Given the description of an element on the screen output the (x, y) to click on. 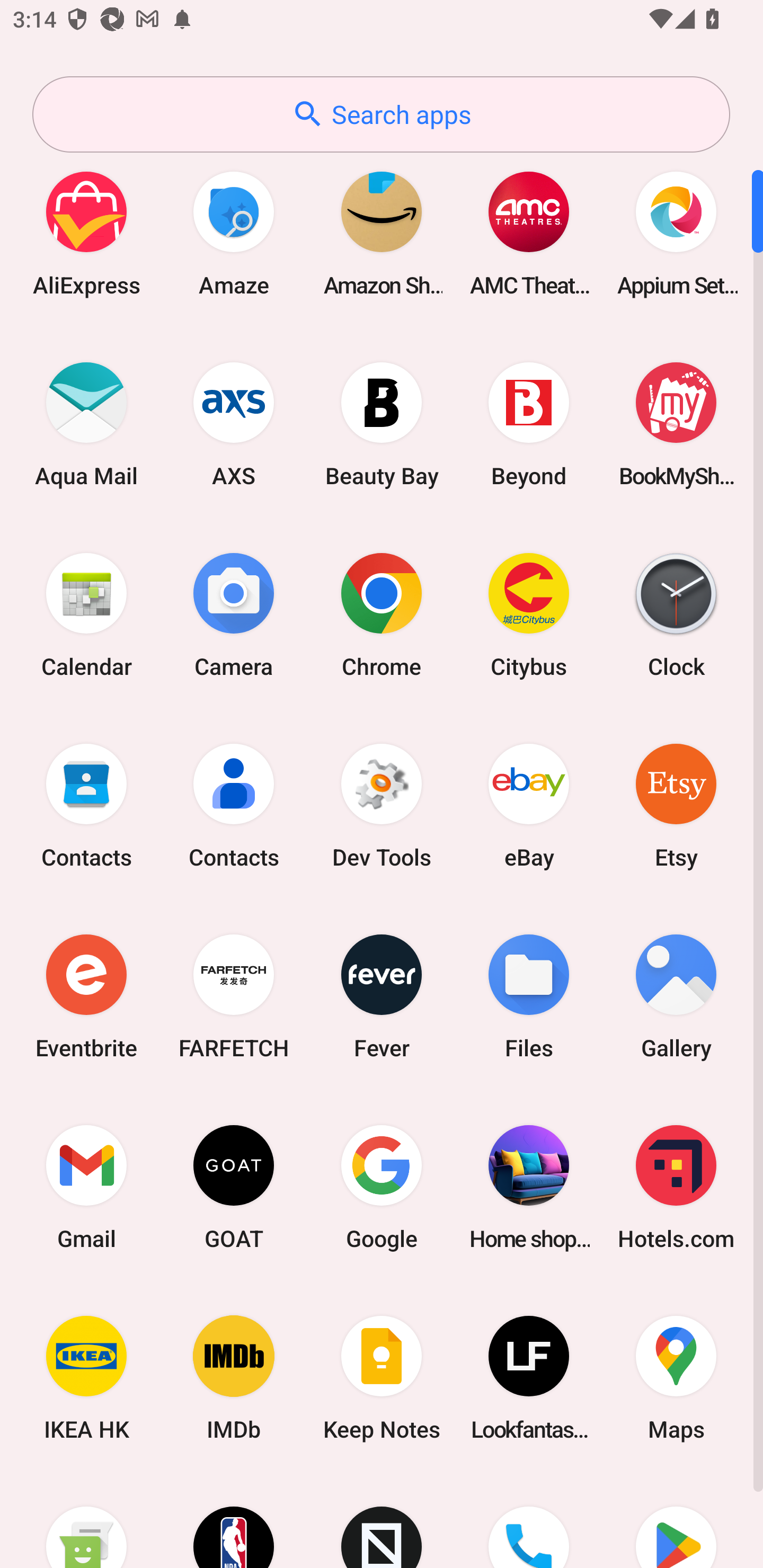
  Search apps (381, 114)
AliExpress (86, 233)
Amaze (233, 233)
Amazon Shopping (381, 233)
AMC Theatres (528, 233)
Appium Settings (676, 233)
Aqua Mail (86, 424)
AXS (233, 424)
Beauty Bay (381, 424)
Beyond (528, 424)
BookMyShow (676, 424)
Calendar (86, 614)
Camera (233, 614)
Chrome (381, 614)
Citybus (528, 614)
Clock (676, 614)
Contacts (86, 805)
Contacts (233, 805)
Dev Tools (381, 805)
eBay (528, 805)
Etsy (676, 805)
Eventbrite (86, 996)
FARFETCH (233, 996)
Fever (381, 996)
Files (528, 996)
Gallery (676, 996)
Gmail (86, 1186)
GOAT (233, 1186)
Google (381, 1186)
Home shopping (528, 1186)
Hotels.com (676, 1186)
IKEA HK (86, 1377)
IMDb (233, 1377)
Keep Notes (381, 1377)
Lookfantastic (528, 1377)
Maps (676, 1377)
